Given the description of an element on the screen output the (x, y) to click on. 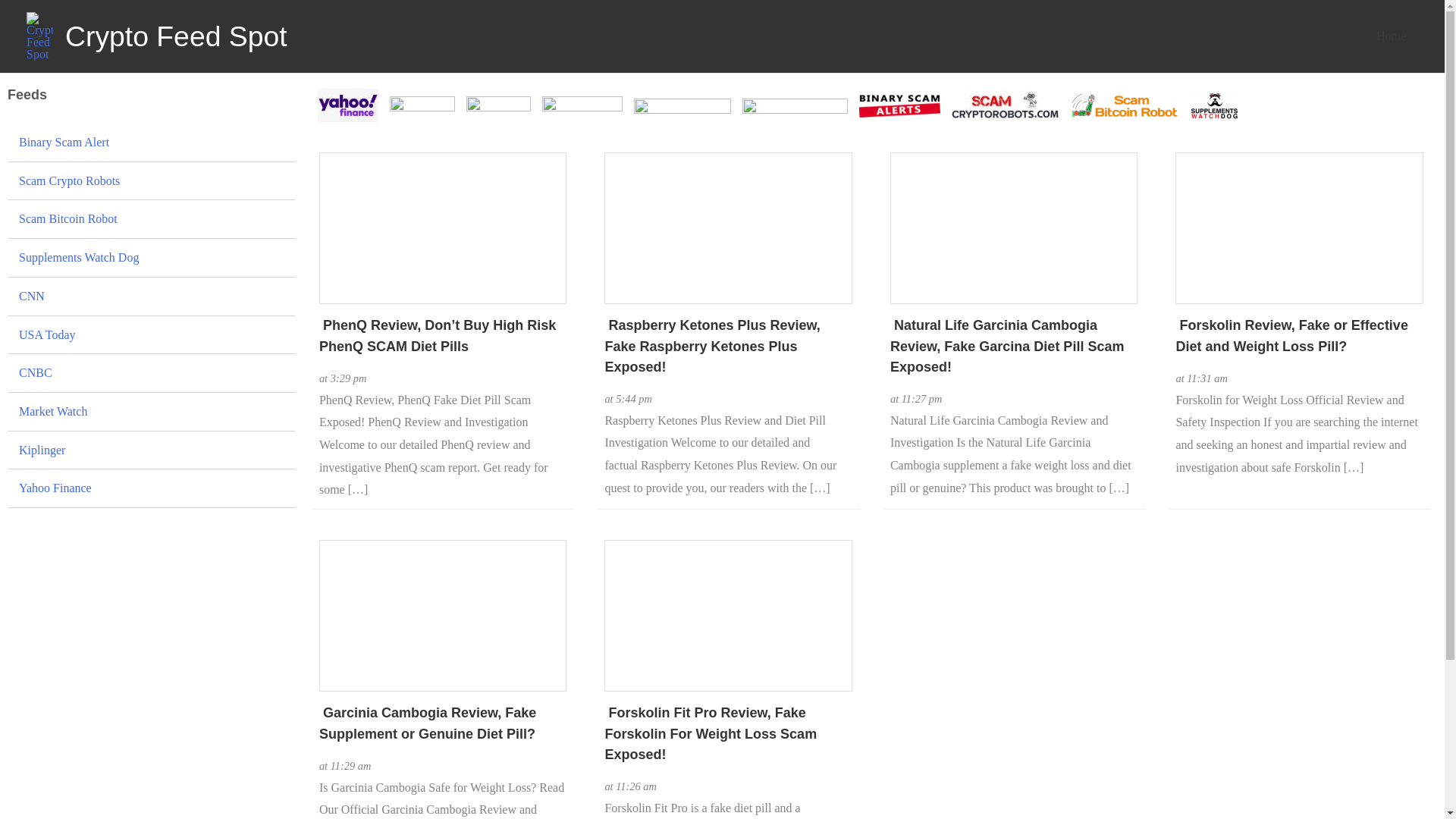
CNBC (151, 372)
USA Today (151, 334)
Kiplinger (151, 450)
Market Watch (151, 411)
Supplements Watch Dog (151, 257)
